Given the description of an element on the screen output the (x, y) to click on. 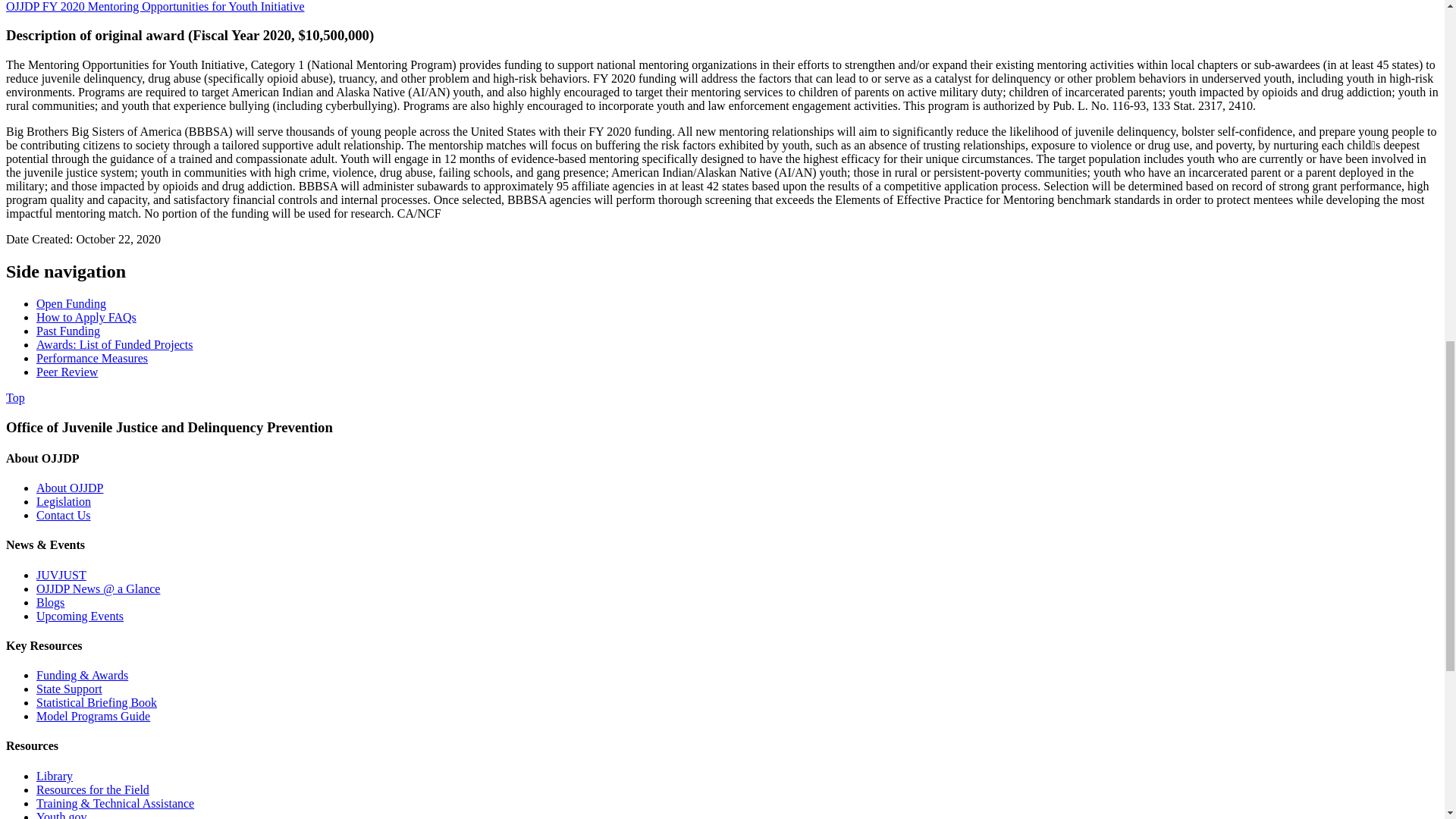
About OJJDP (69, 487)
Contact Us (63, 514)
Open Funding (71, 303)
Awards: List of Funded Projects (114, 344)
Top (14, 397)
Peer Review (66, 371)
Performance Measures (92, 358)
How to Apply FAQs (86, 317)
OJJDP FY 2020 Mentoring Opportunities for Youth Initiative (154, 6)
Past Funding (68, 330)
Legislation (63, 501)
